Given the description of an element on the screen output the (x, y) to click on. 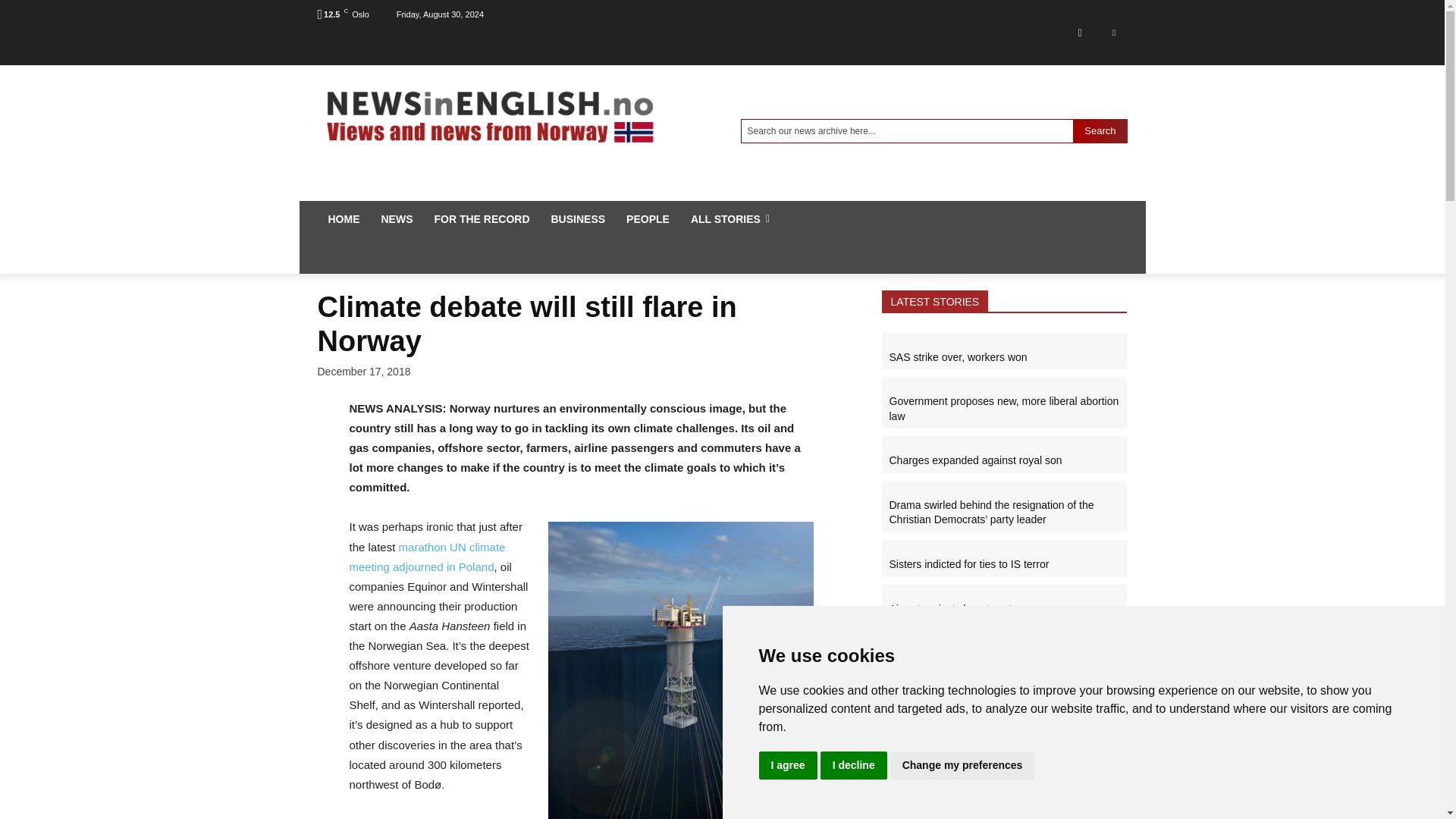
Charges expanded against royal son (974, 702)
NEWS (396, 218)
Facebook (1079, 32)
ALL STORIES (729, 218)
Airport projects boost costs (952, 608)
SAS strike over, workers won (957, 357)
HOME (343, 218)
BUSINESS (577, 218)
Sisters indicted for ties to IS terror (968, 563)
FOR THE RECORD (481, 218)
